Given the description of an element on the screen output the (x, y) to click on. 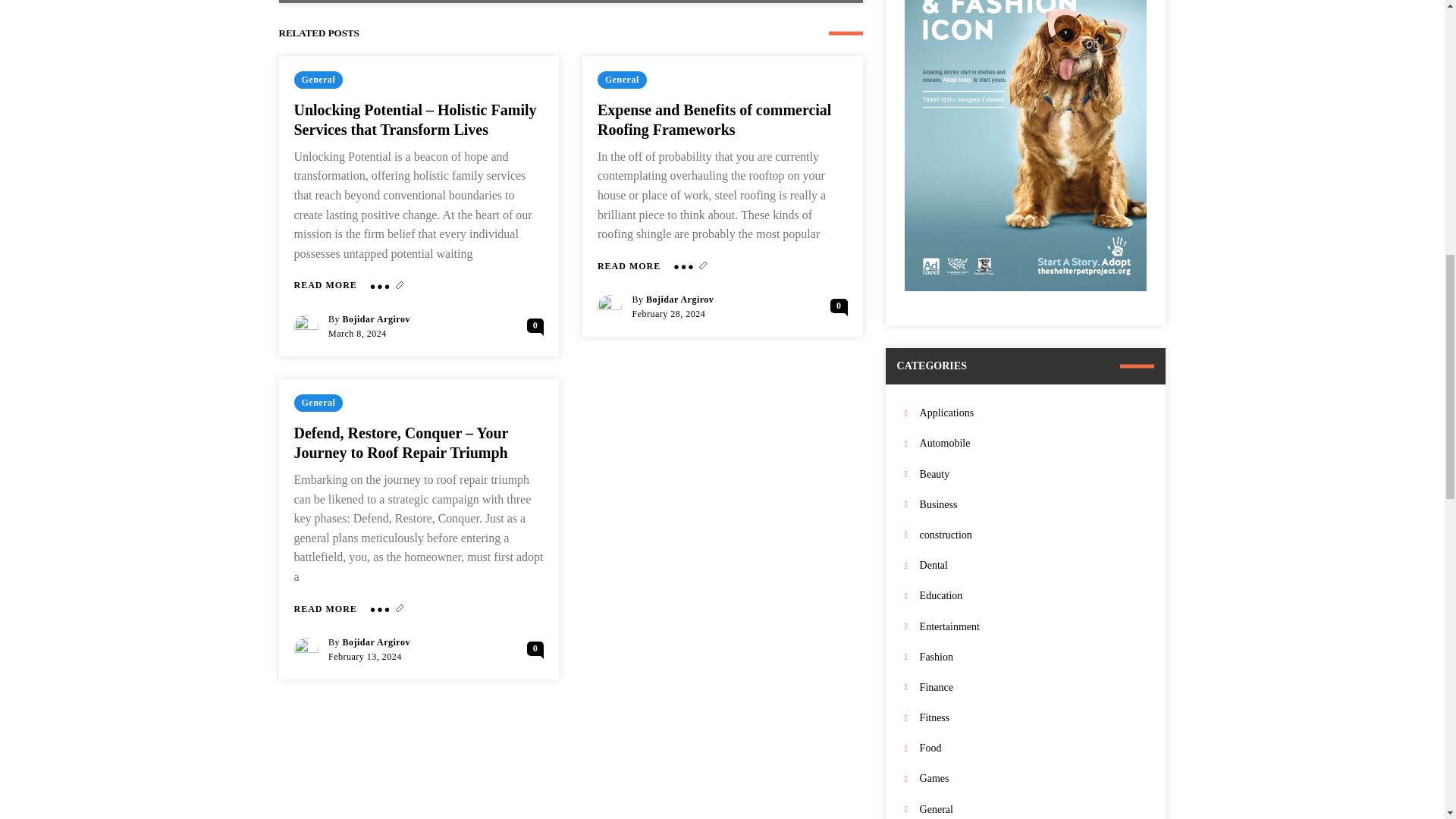
View all posts in General (318, 79)
View all posts in General (318, 402)
February 28, 2024 (667, 313)
March 8, 2024 (358, 333)
View all posts in General (621, 79)
General (318, 79)
Posts by Bojidar Argirov (679, 299)
0 (535, 325)
Expense and Benefits of commercial Roofing Frameworks (628, 266)
General (621, 79)
Bojidar Argirov (679, 299)
Expense and Benefits of commercial Roofing Frameworks (713, 119)
Expense and Benefits of commercial Roofing Frameworks (713, 119)
Posts by Bojidar Argirov (376, 318)
